Given the description of an element on the screen output the (x, y) to click on. 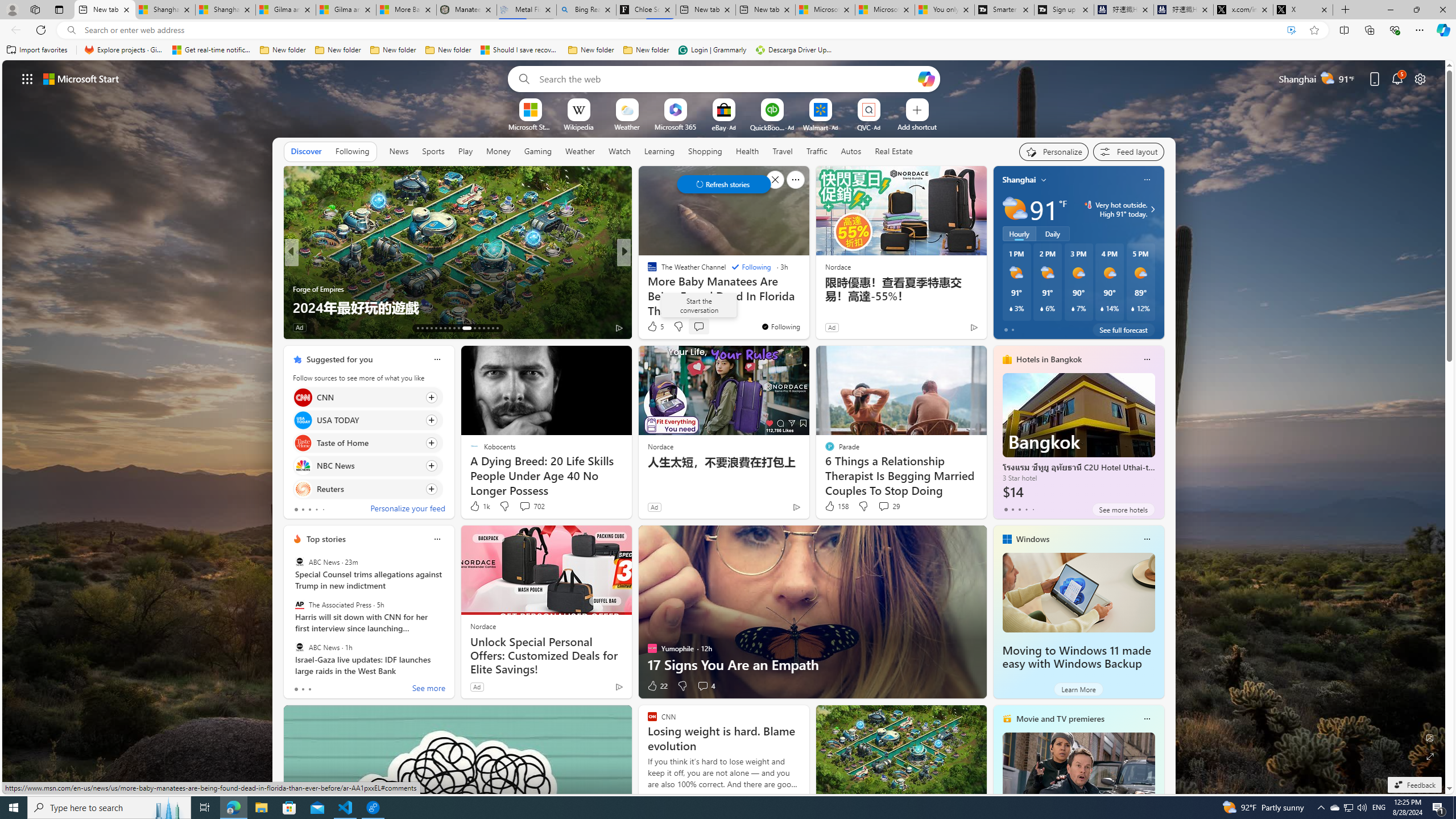
Page settings (1420, 78)
5 Like (655, 326)
You're following The Weather Channel (780, 326)
Microsoft start (81, 78)
hotels-header-icon (1006, 358)
Click to follow source Reuters (367, 488)
Feed settings (1128, 151)
Don't Use an Ordinary Backpack (807, 307)
Weather (580, 151)
